Given the description of an element on the screen output the (x, y) to click on. 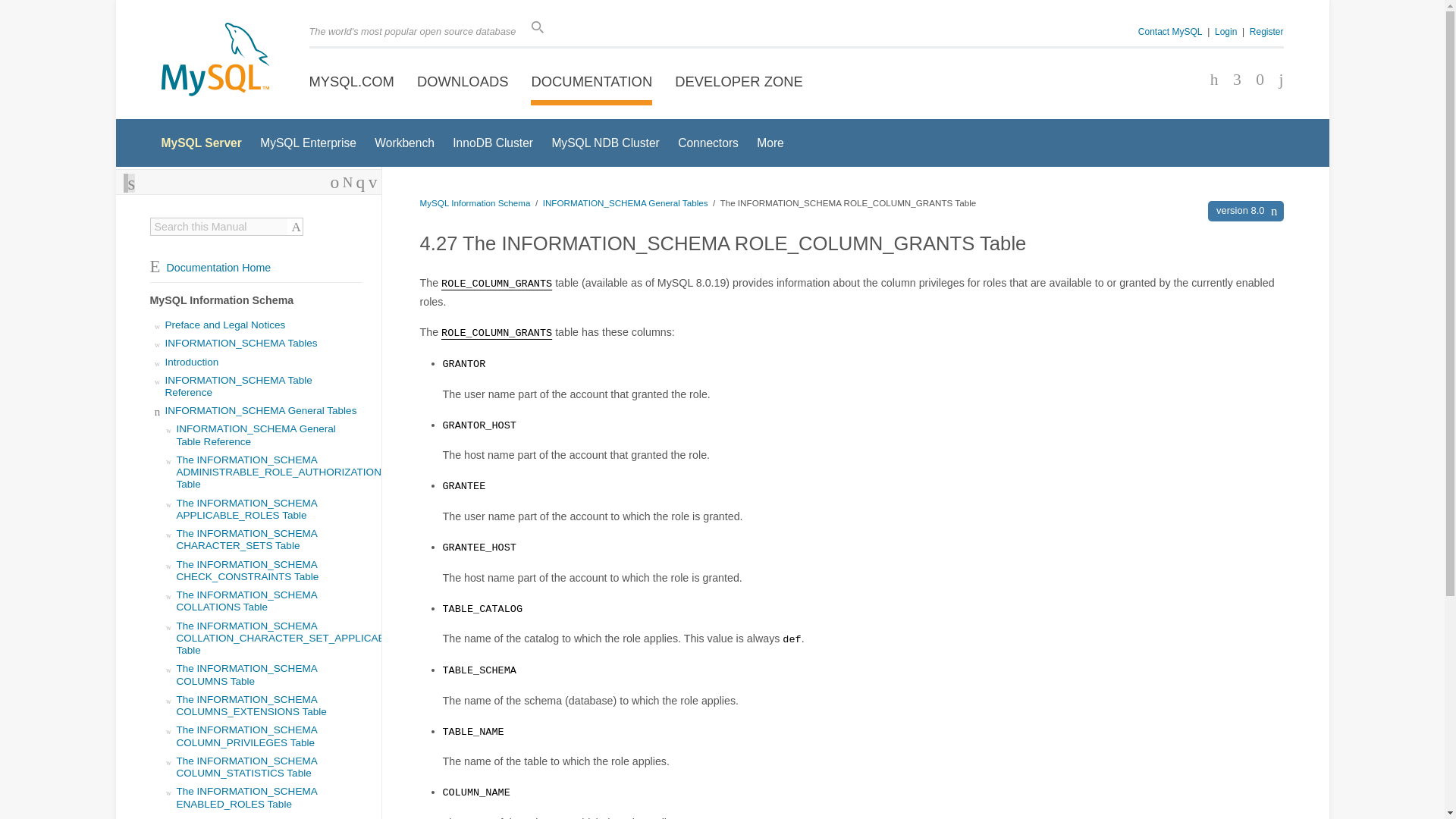
Documentation Home (209, 267)
MySQL Server (200, 142)
More (770, 142)
Contact MySQL (1170, 31)
Connectors (708, 142)
Preface and Legal Notices (225, 324)
Follow us on LinkedIn (1253, 80)
Introduction (192, 361)
MySQL NDB Cluster (605, 142)
Search this Manual (217, 226)
Start (347, 181)
MySQL (214, 60)
InnoDB Cluster (492, 142)
Follow us on X (1231, 80)
DOWNLOADS (462, 81)
